Given the description of an element on the screen output the (x, y) to click on. 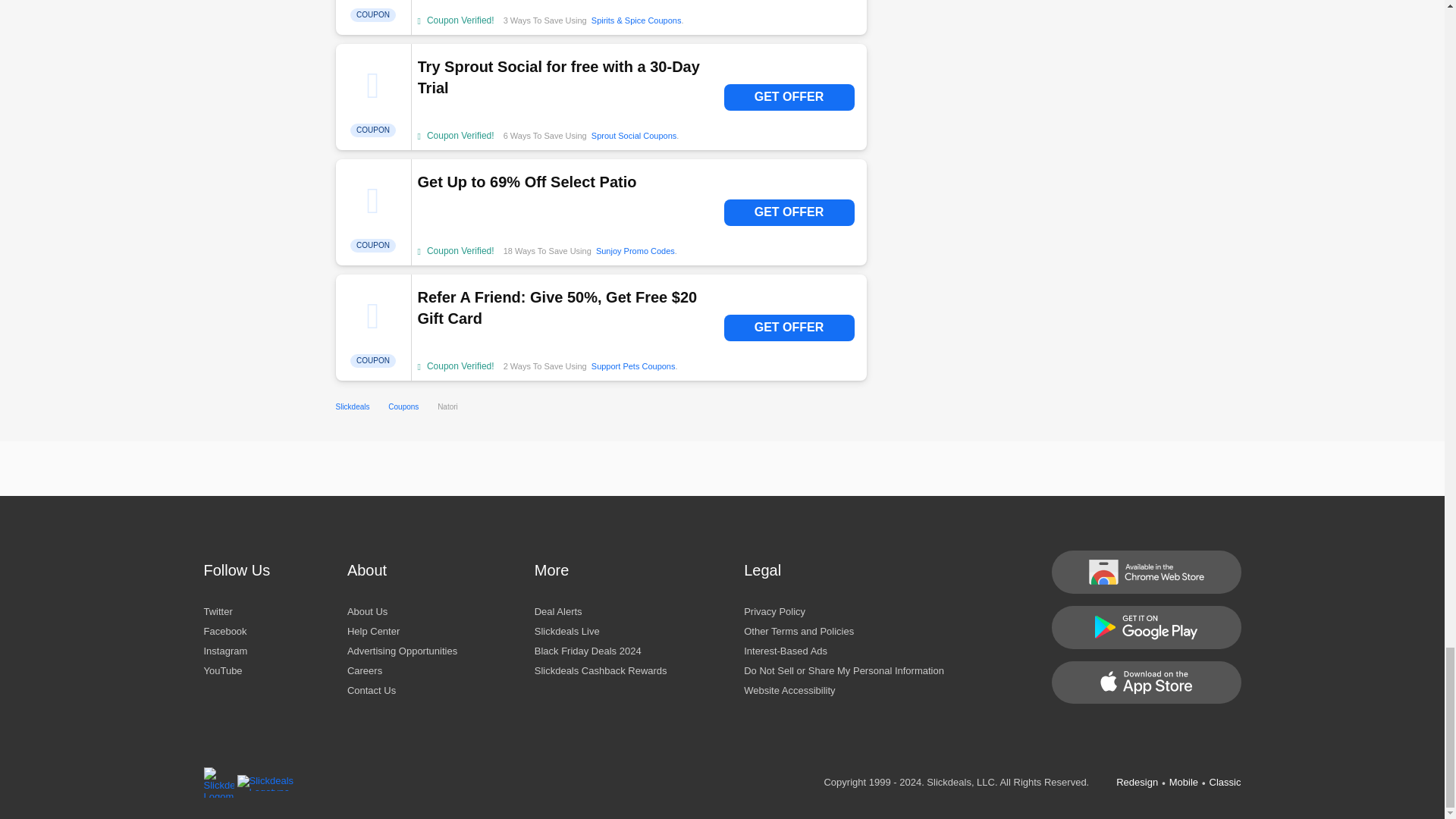
Install the Slickdeals iOS App (1145, 681)
Install the Slickdeals Android App (1145, 627)
Install the Slickdeals Extension (1145, 571)
